Given the description of an element on the screen output the (x, y) to click on. 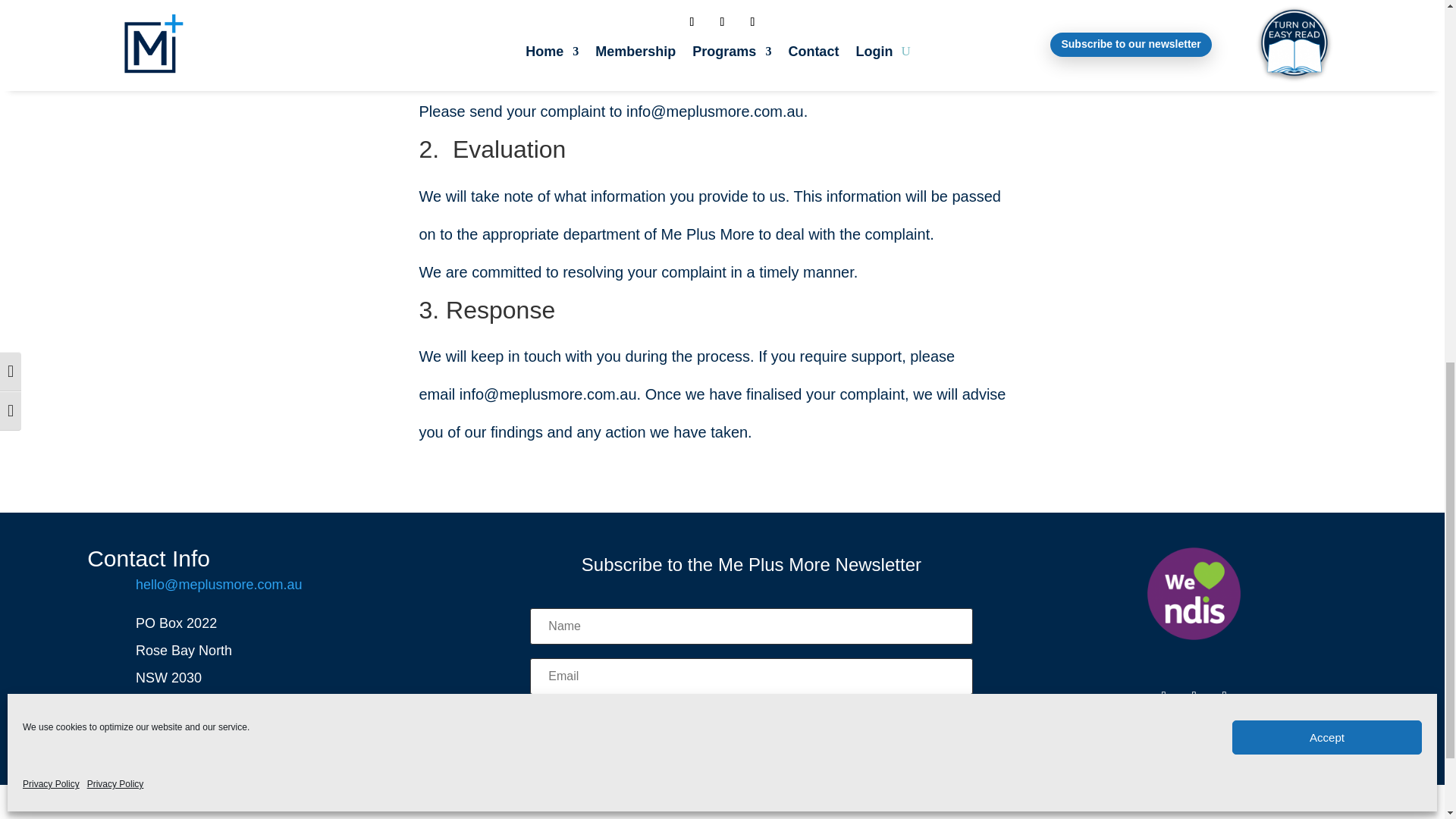
Follow on Pinterest (1224, 695)
Privacy Policy (115, 59)
Privacy Policy (51, 59)
Accept (1326, 14)
We love the NDIS (1193, 593)
Follow on Instagram (1194, 695)
Follow on Facebook (1163, 695)
